Given the description of an element on the screen output the (x, y) to click on. 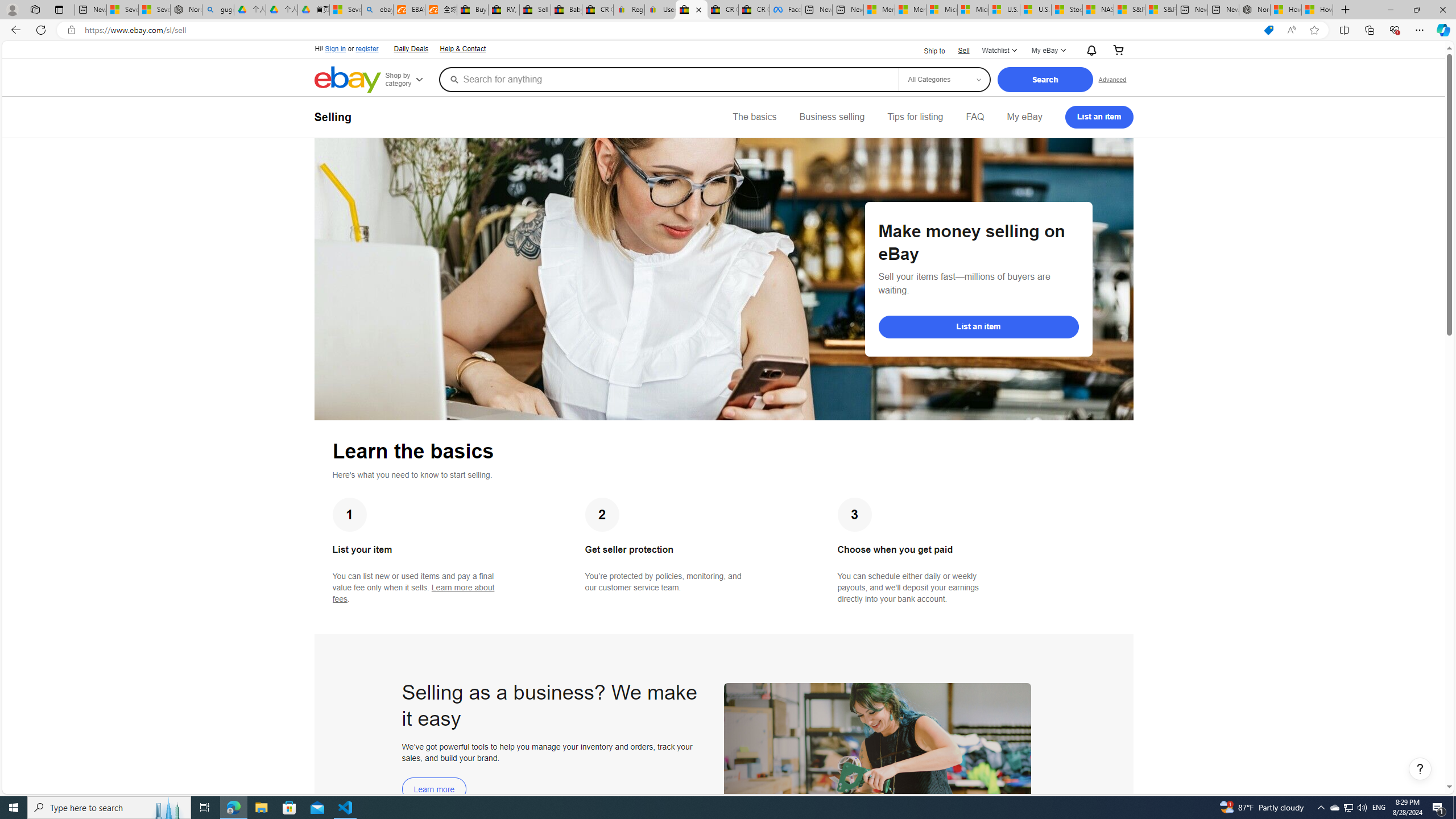
Sell (963, 49)
Sign in (335, 49)
eBay Home (347, 79)
Facebook (785, 9)
register (366, 49)
Watchlist (998, 50)
Learn more about fees - opens in new window or tab. (413, 593)
